Given the description of an element on the screen output the (x, y) to click on. 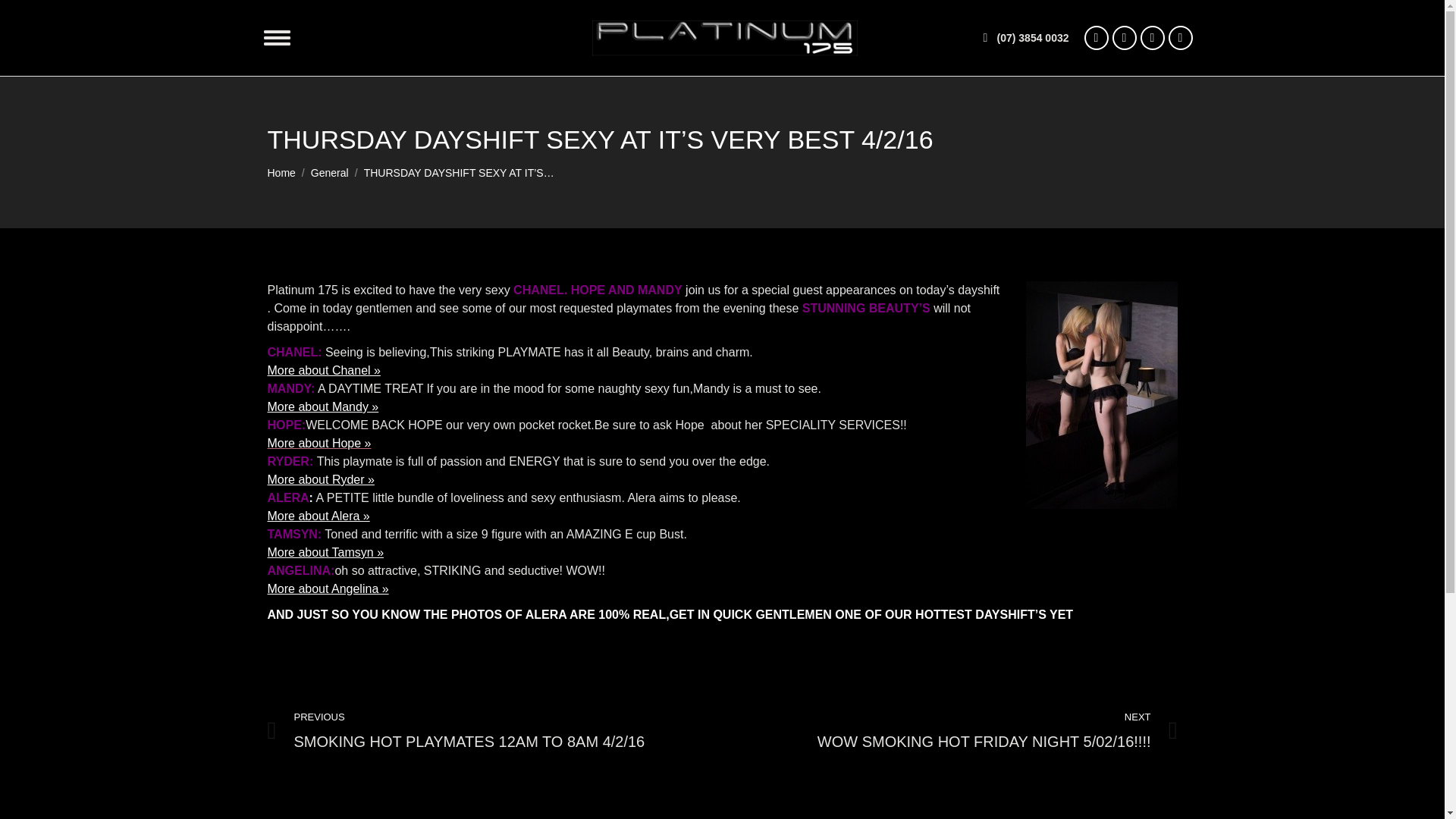
Twitter page opens in new window (1152, 37)
Mail page opens in new window (1179, 37)
Mail page opens in new window (1179, 37)
Twitter page opens in new window (1152, 37)
Home (280, 173)
Instagram page opens in new window (1123, 37)
Facebook page opens in new window (1096, 37)
Instagram page opens in new window (1123, 37)
General (330, 173)
Facebook page opens in new window (1096, 37)
